Given the description of an element on the screen output the (x, y) to click on. 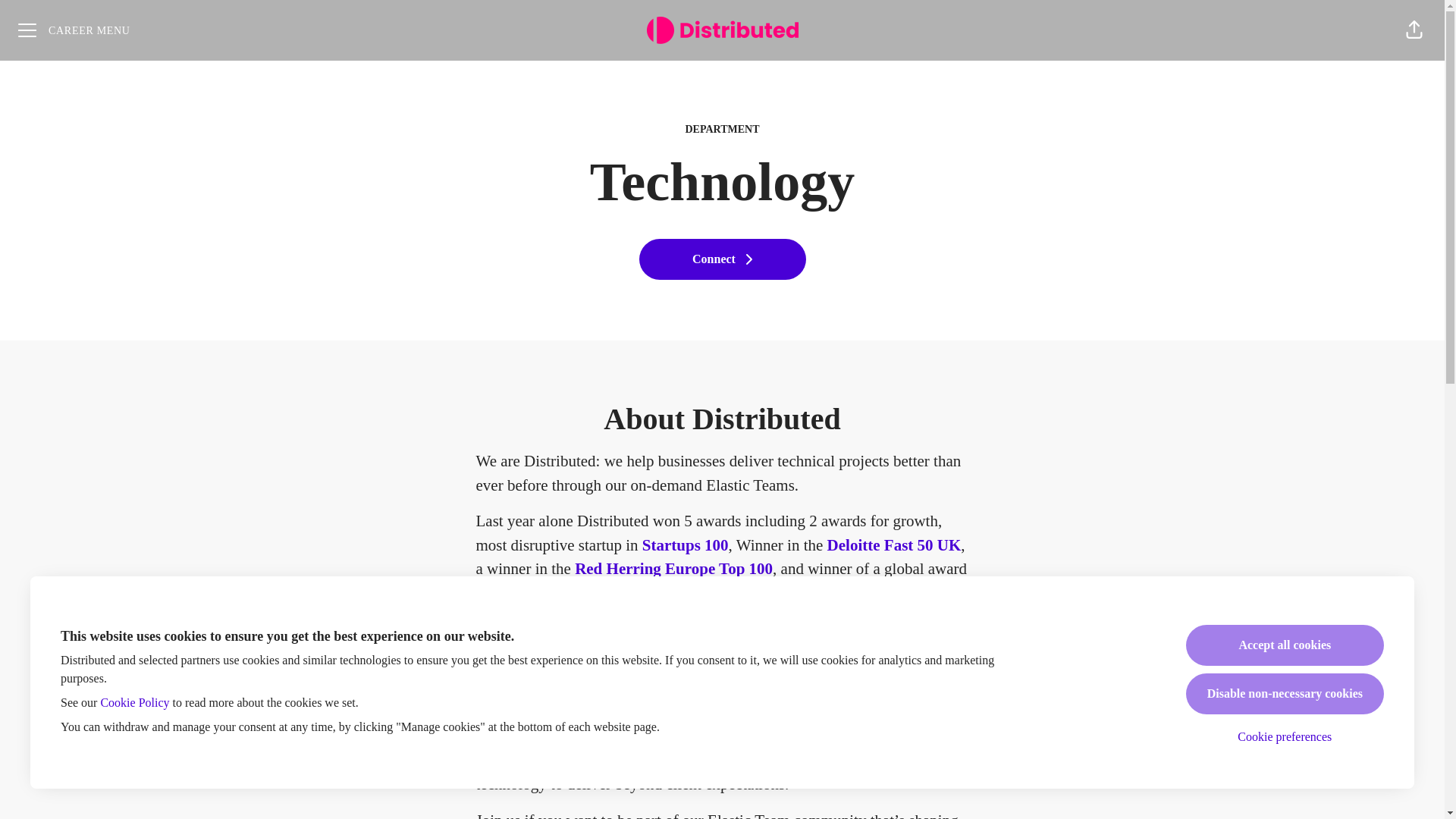
Accept all cookies (1285, 644)
Deloitte Fast 50 UK (891, 545)
Share page (1414, 30)
CAREER MENU (73, 30)
Startups 100 (685, 545)
Career menu (73, 30)
Cookie preferences (1284, 736)
Cookie Policy (134, 702)
Red Herring Europe Top 100 (674, 568)
Connect (722, 259)
Disable non-necessary cookies (1285, 693)
